Given the description of an element on the screen output the (x, y) to click on. 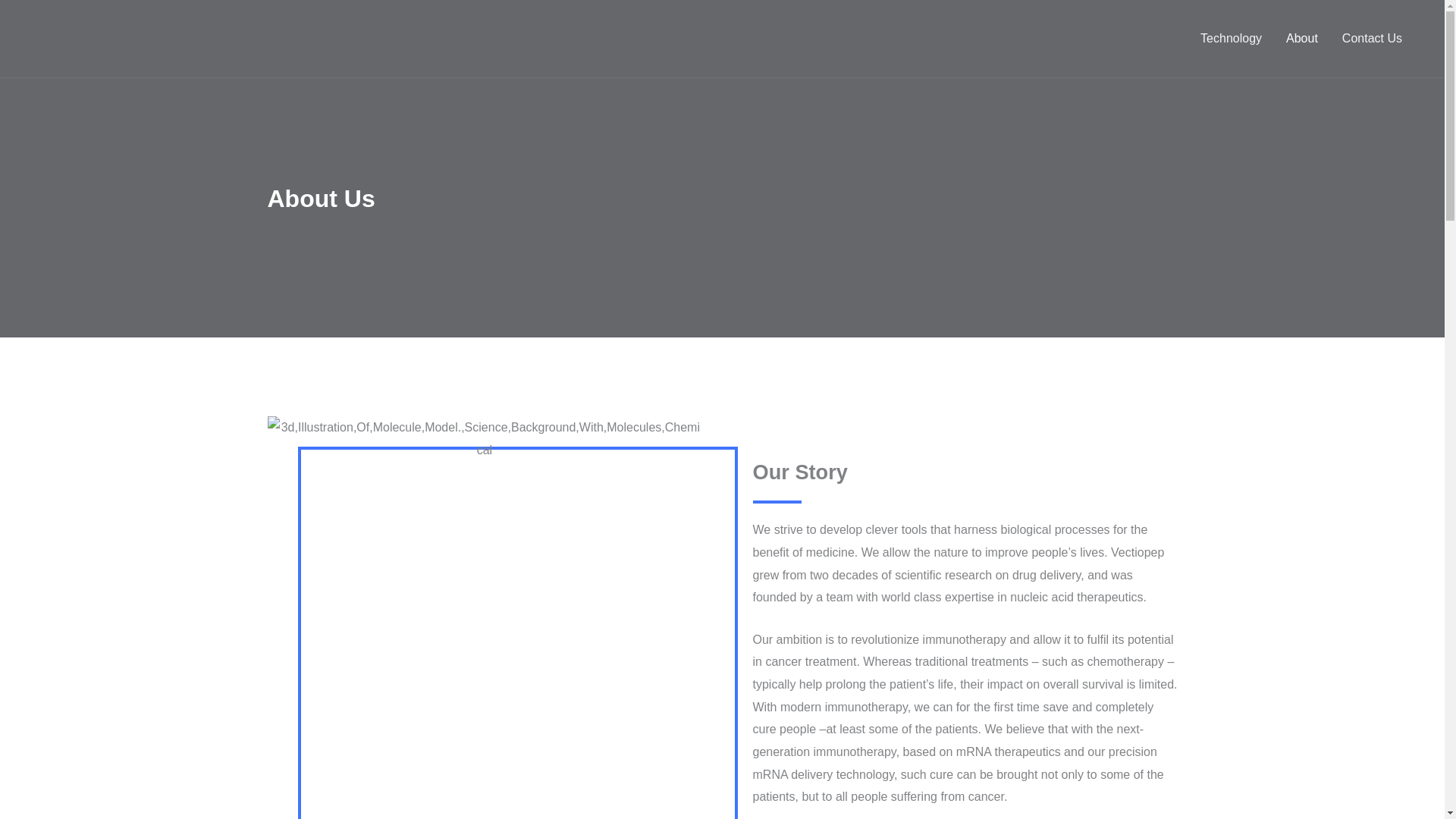
Contact Us (1371, 38)
About (1302, 38)
Technology (1231, 38)
